Given the description of an element on the screen output the (x, y) to click on. 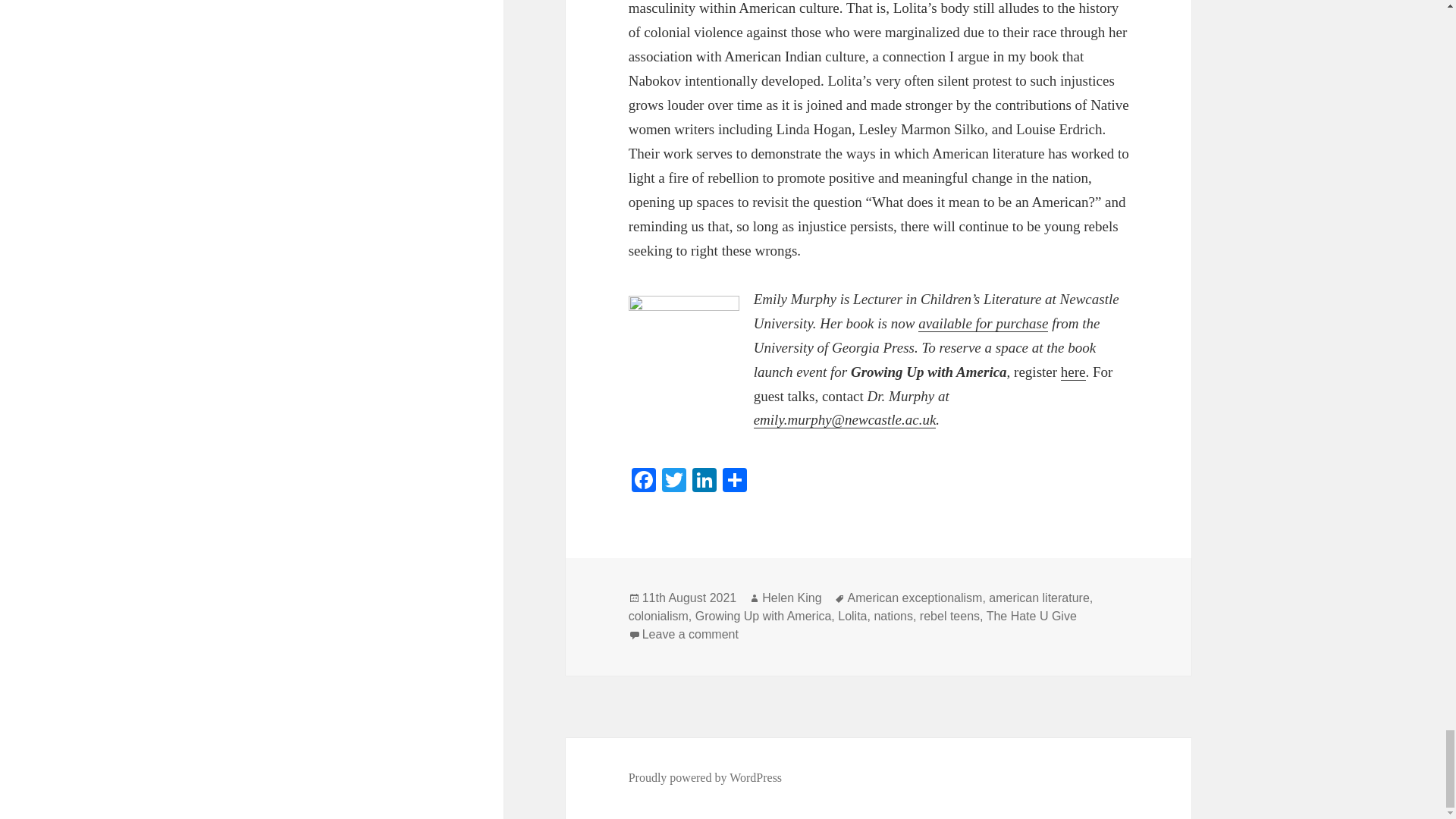
Facebook (643, 481)
LinkedIn (703, 481)
Twitter (673, 481)
